Given the description of an element on the screen output the (x, y) to click on. 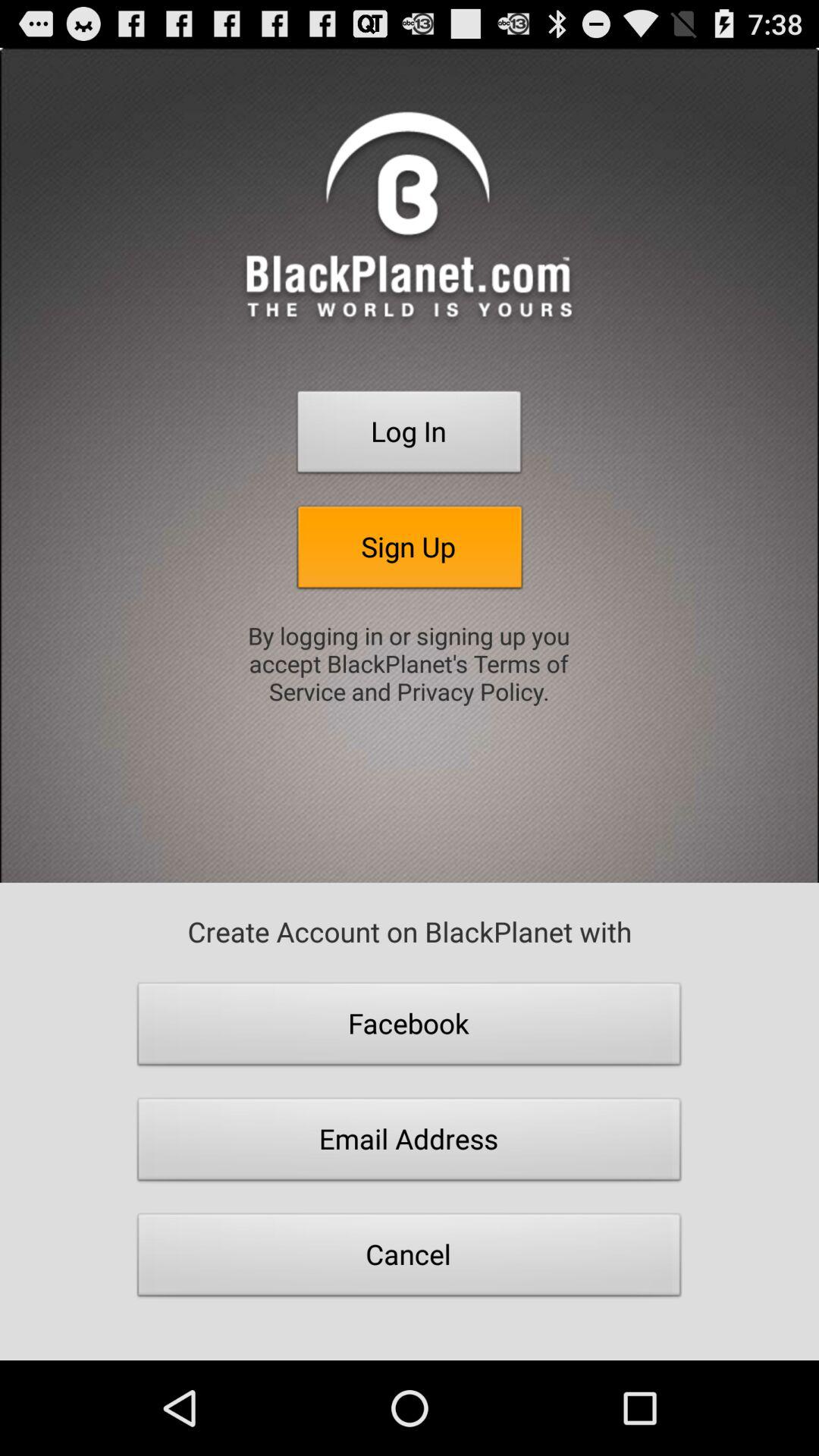
launch email address icon (409, 1143)
